Given the description of an element on the screen output the (x, y) to click on. 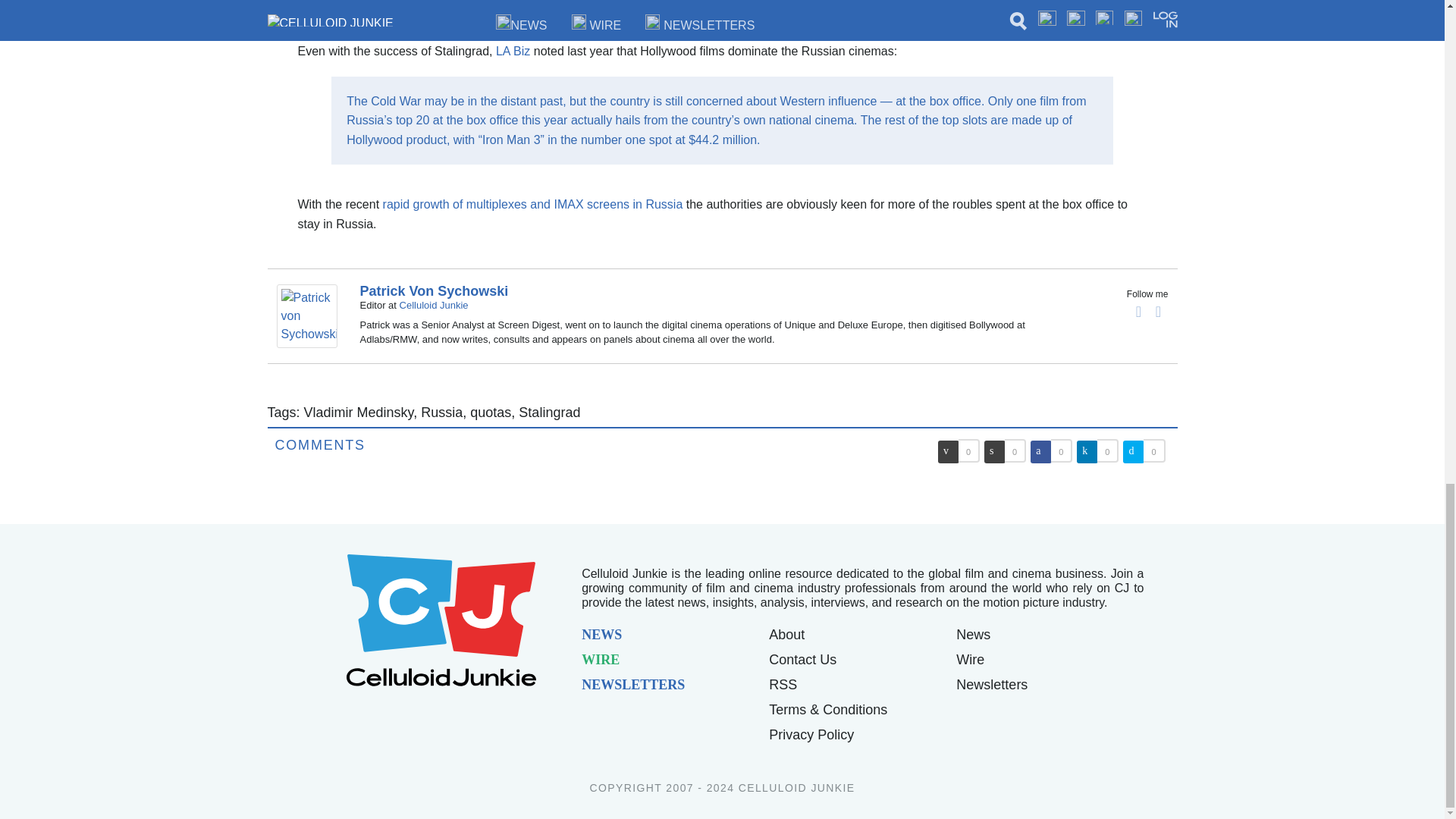
Share on Email (948, 451)
Twitter (1158, 311)
Facebook (1138, 311)
Patrick von Sychowski (309, 316)
